Given the description of an element on the screen output the (x, y) to click on. 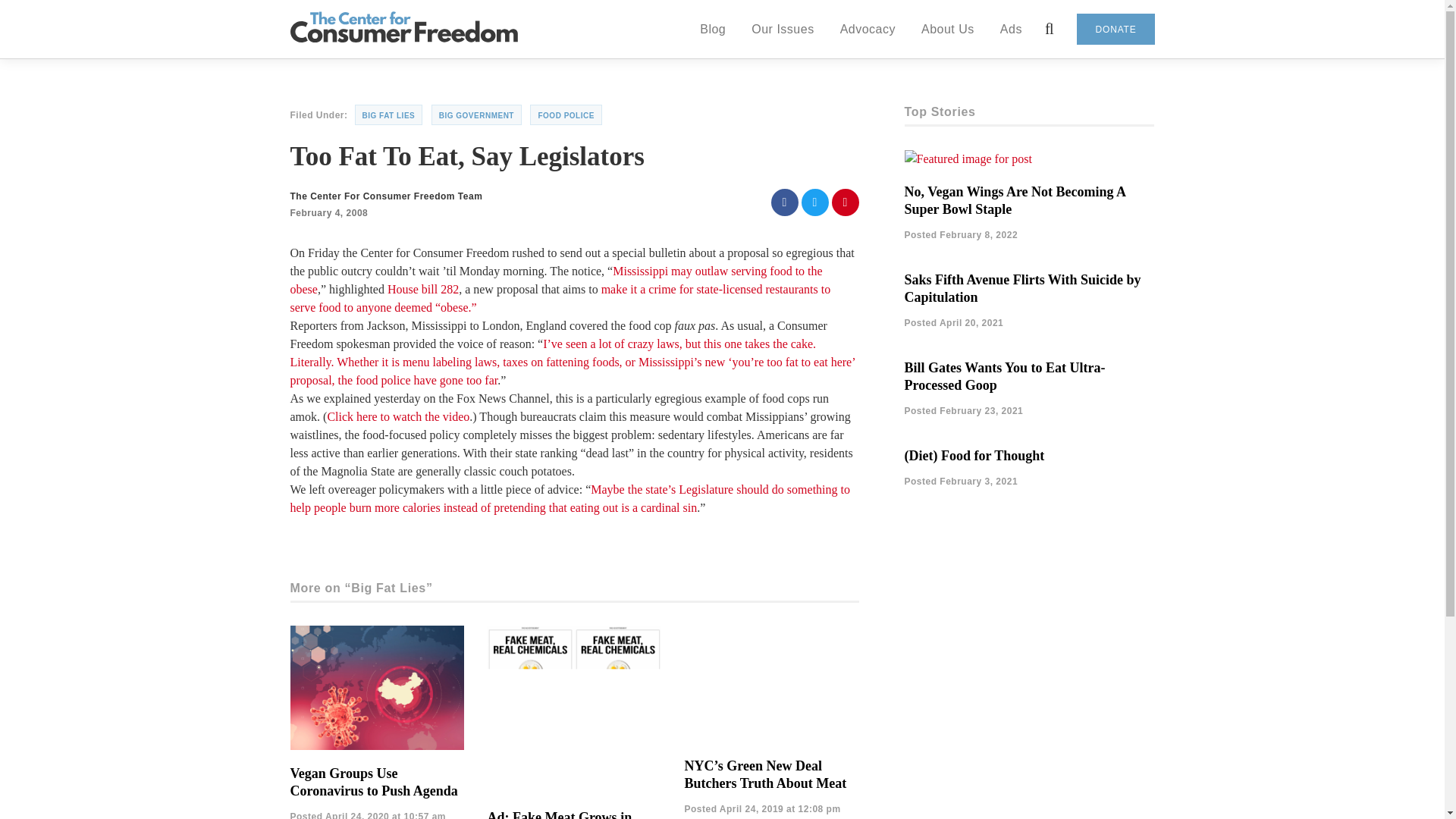
Share on Twitter (814, 202)
Vegan Groups Use Coronavirus to Push Agenda (373, 781)
BIG GOVERNMENT (475, 114)
Share on Email (845, 202)
Click here to watch the video (397, 416)
BIG FAT LIES (389, 114)
Advocacy (867, 28)
Ad: Fake Meat Grows in Factories, Not on Vines (558, 814)
House bill 282 (422, 288)
DONATE (1115, 29)
